Given the description of an element on the screen output the (x, y) to click on. 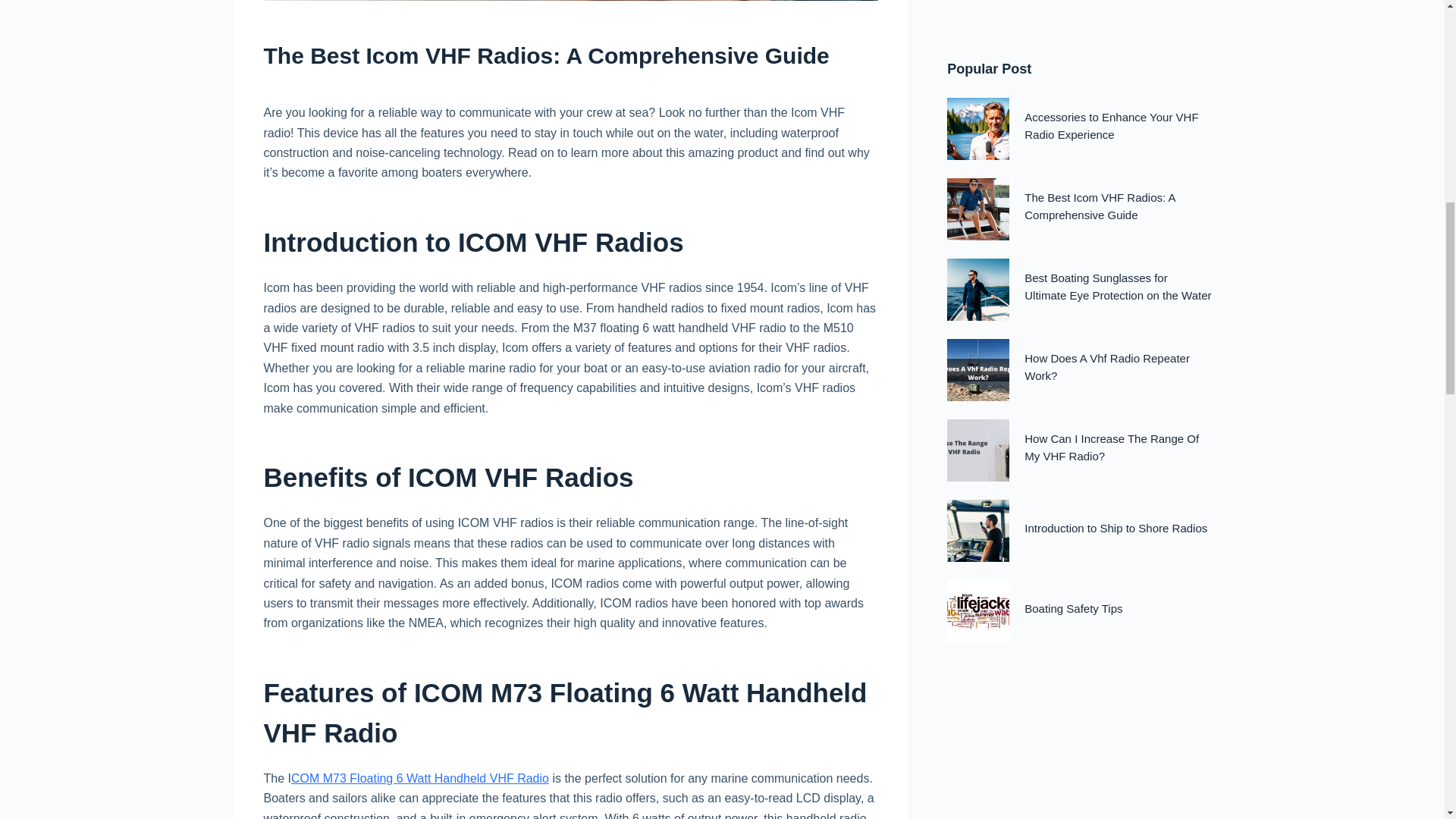
The Best Icom VHF Radios: A Comprehensive Guide (570, 55)
COM M73 Floating 6 Watt Handheld VHF Radio (419, 778)
